Given the description of an element on the screen output the (x, y) to click on. 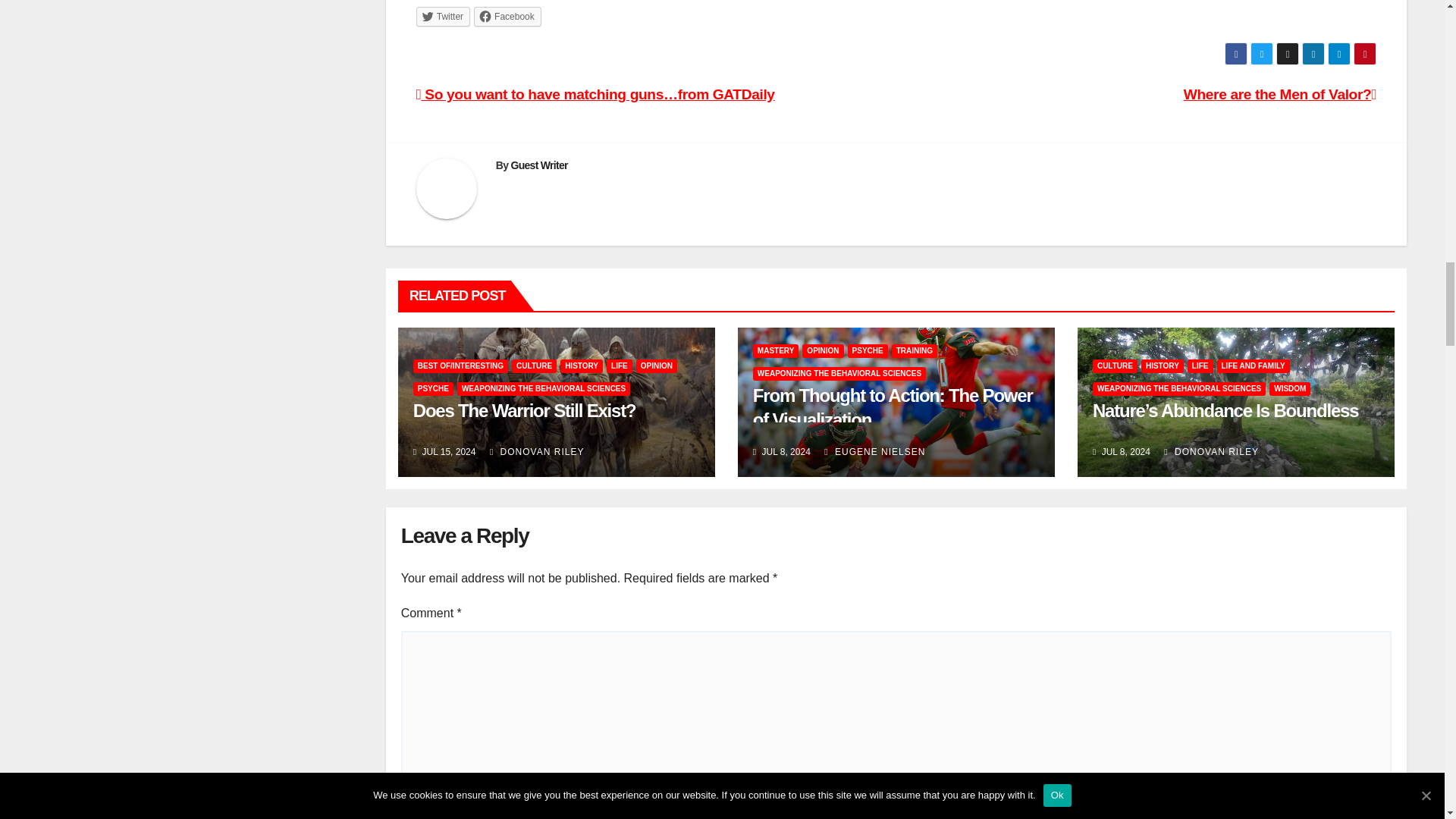
Click to share on Twitter (443, 16)
Click to share on Facebook (507, 16)
Permalink to: Does The Warrior Still Exist? (524, 410)
